Given the description of an element on the screen output the (x, y) to click on. 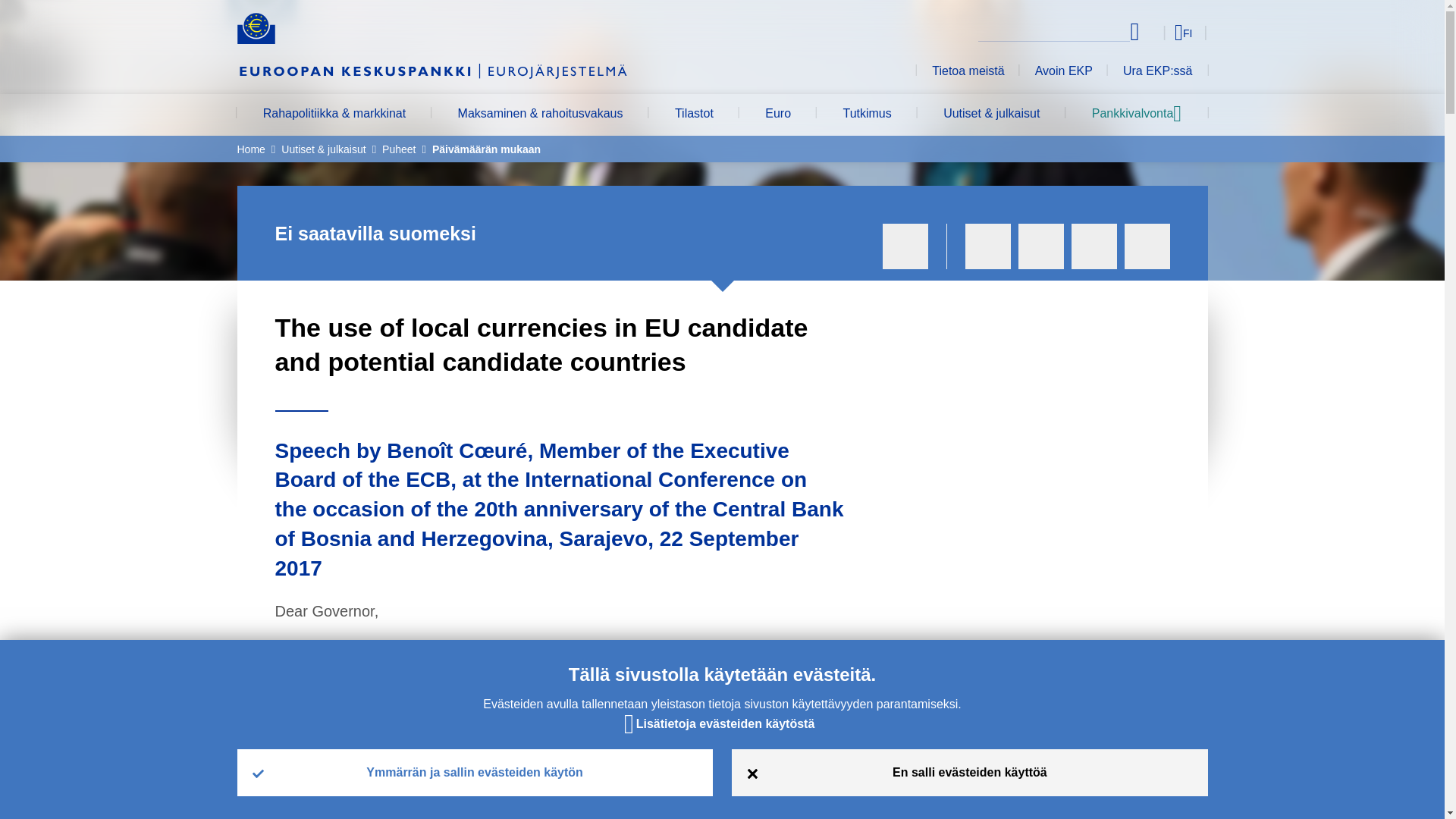
Select language (1153, 32)
